Given the description of an element on the screen output the (x, y) to click on. 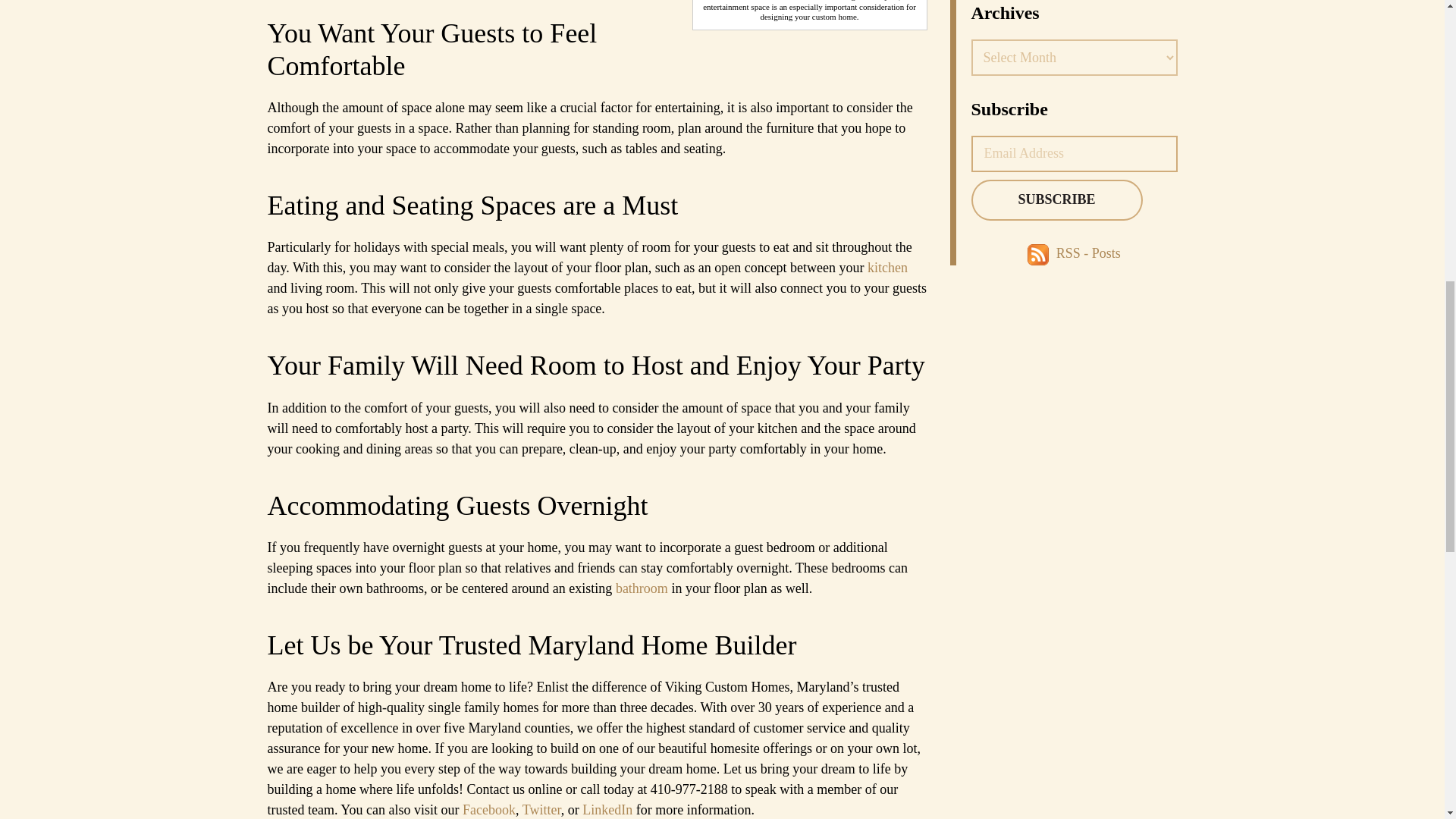
Facebook (489, 809)
Subscribe (1056, 199)
Subscribe to Posts (1089, 253)
Twitter (541, 809)
kitchen (887, 267)
bathroom (641, 588)
LinkedIn (606, 809)
Subscribe to Posts (1039, 253)
